Given the description of an element on the screen output the (x, y) to click on. 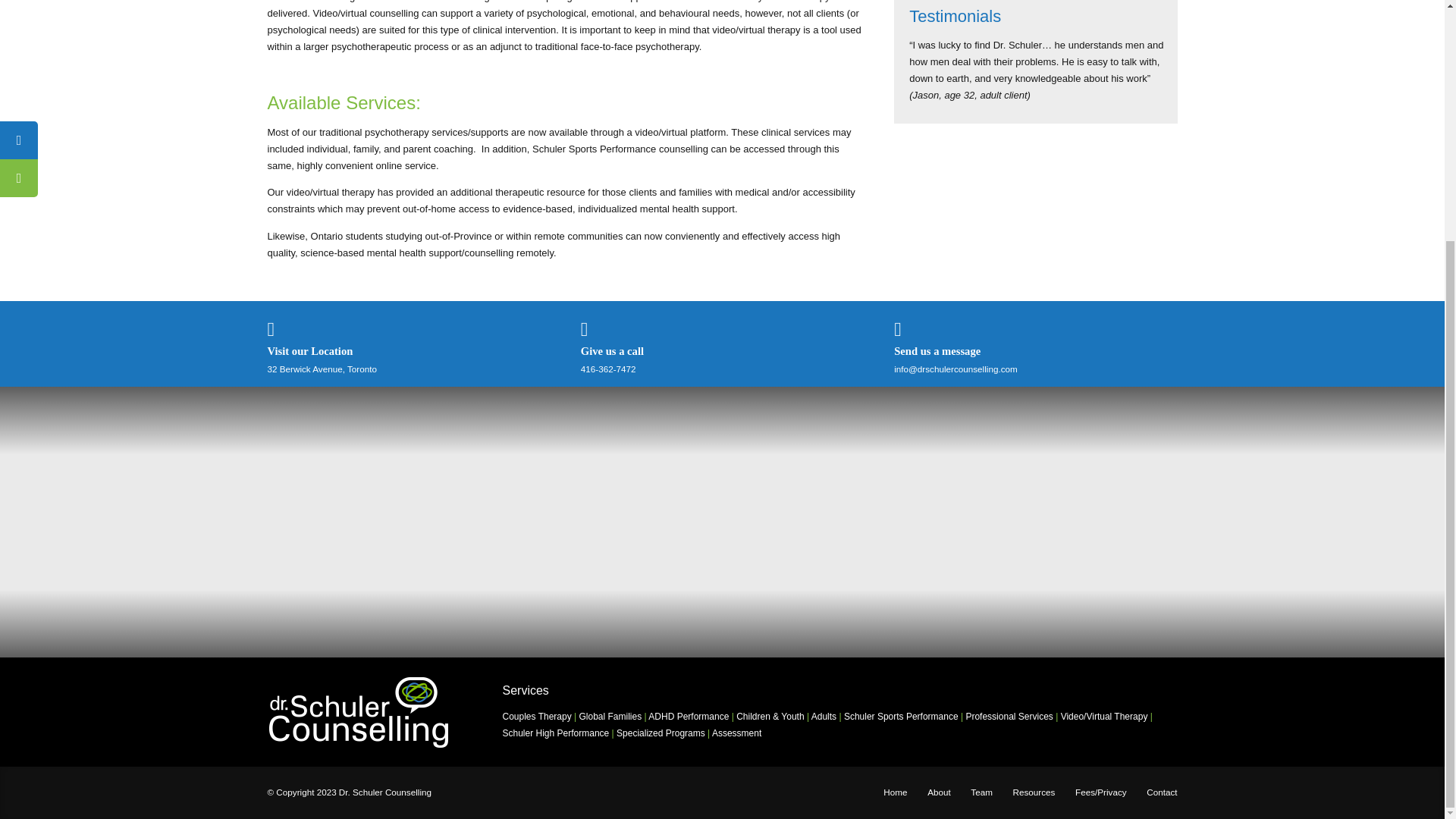
Schuler High Performance (555, 733)
Assessment (736, 733)
ADHD Performance (688, 716)
Schuler Sports Performance (901, 716)
Adults (822, 716)
Couples Therapy (536, 716)
32 Berwick Avenue, Toronto (320, 368)
Professional Services (1008, 716)
Global Families (610, 716)
Specialized Programs (659, 733)
